Given the description of an element on the screen output the (x, y) to click on. 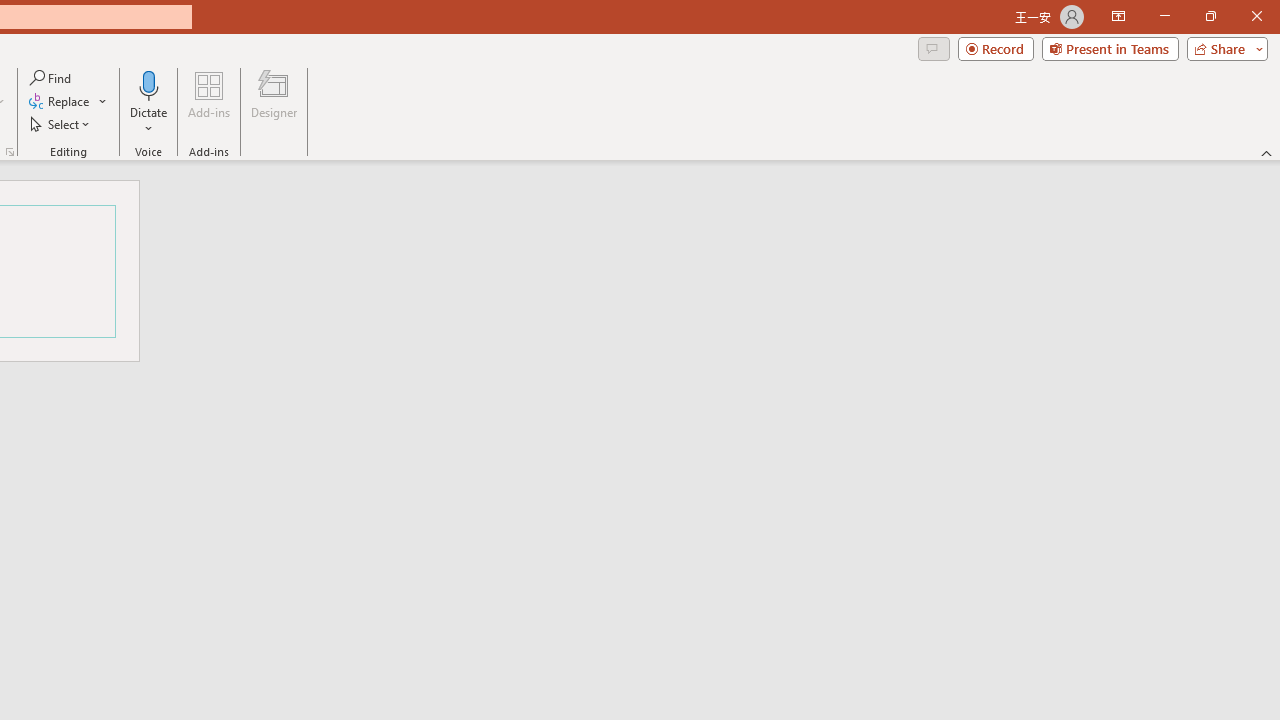
Collapse the Ribbon (1267, 152)
Designer (274, 102)
Select (61, 124)
Present in Teams (1109, 48)
More Options (149, 121)
